Given the description of an element on the screen output the (x, y) to click on. 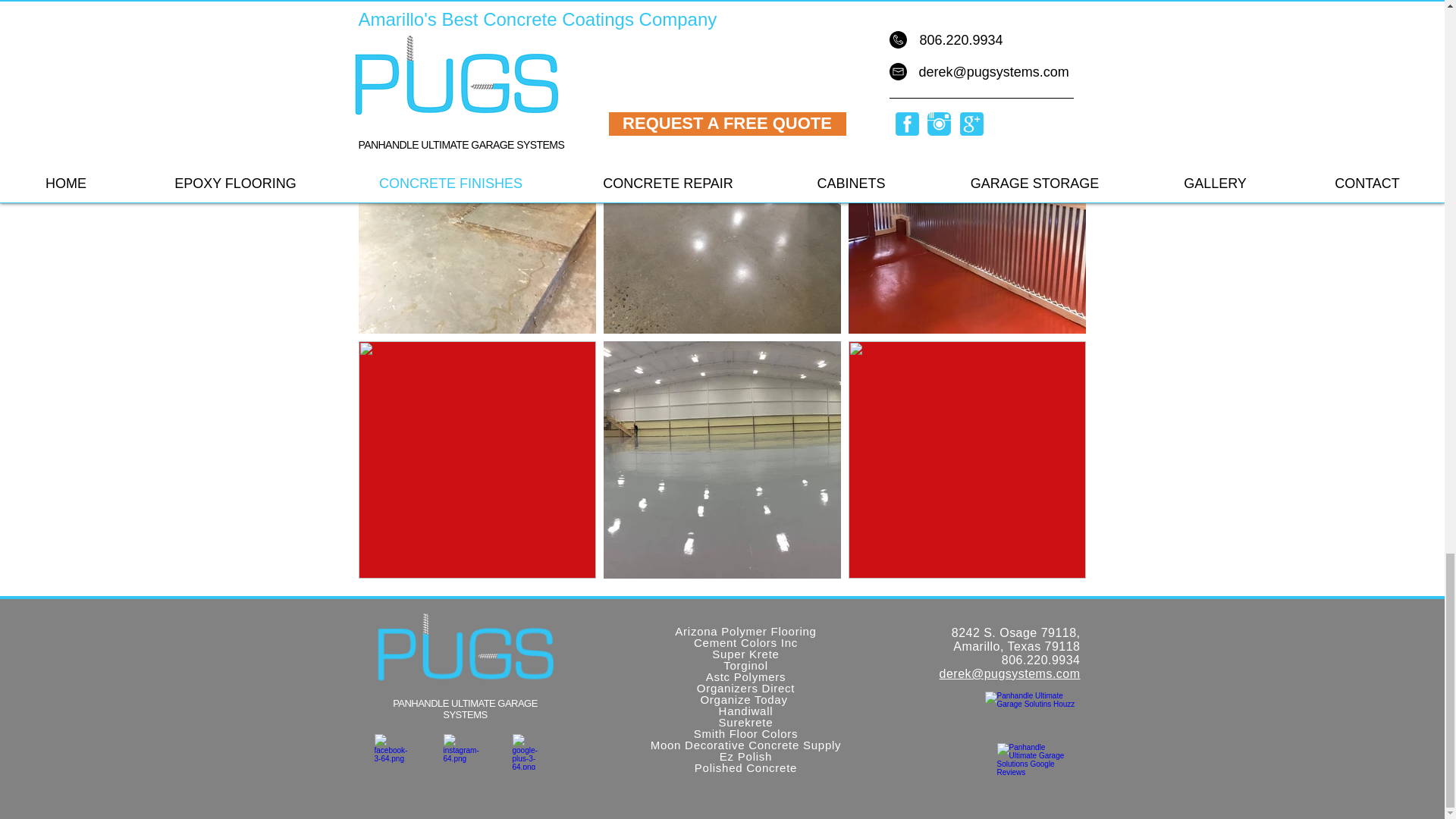
Cement Colors Inc (745, 642)
Ez Polish (745, 756)
Astc Polymers (746, 676)
Organize Today  (745, 698)
Surekrete (746, 721)
Handiwall (746, 710)
Arizona Polymer Flooring (745, 631)
Moon Decorative Concrete Supply (745, 744)
Smith Floor Colors (745, 733)
Polished Concrete (745, 767)
Torginol (745, 665)
Super Krete (744, 653)
Organizers Direct (745, 687)
